Given the description of an element on the screen output the (x, y) to click on. 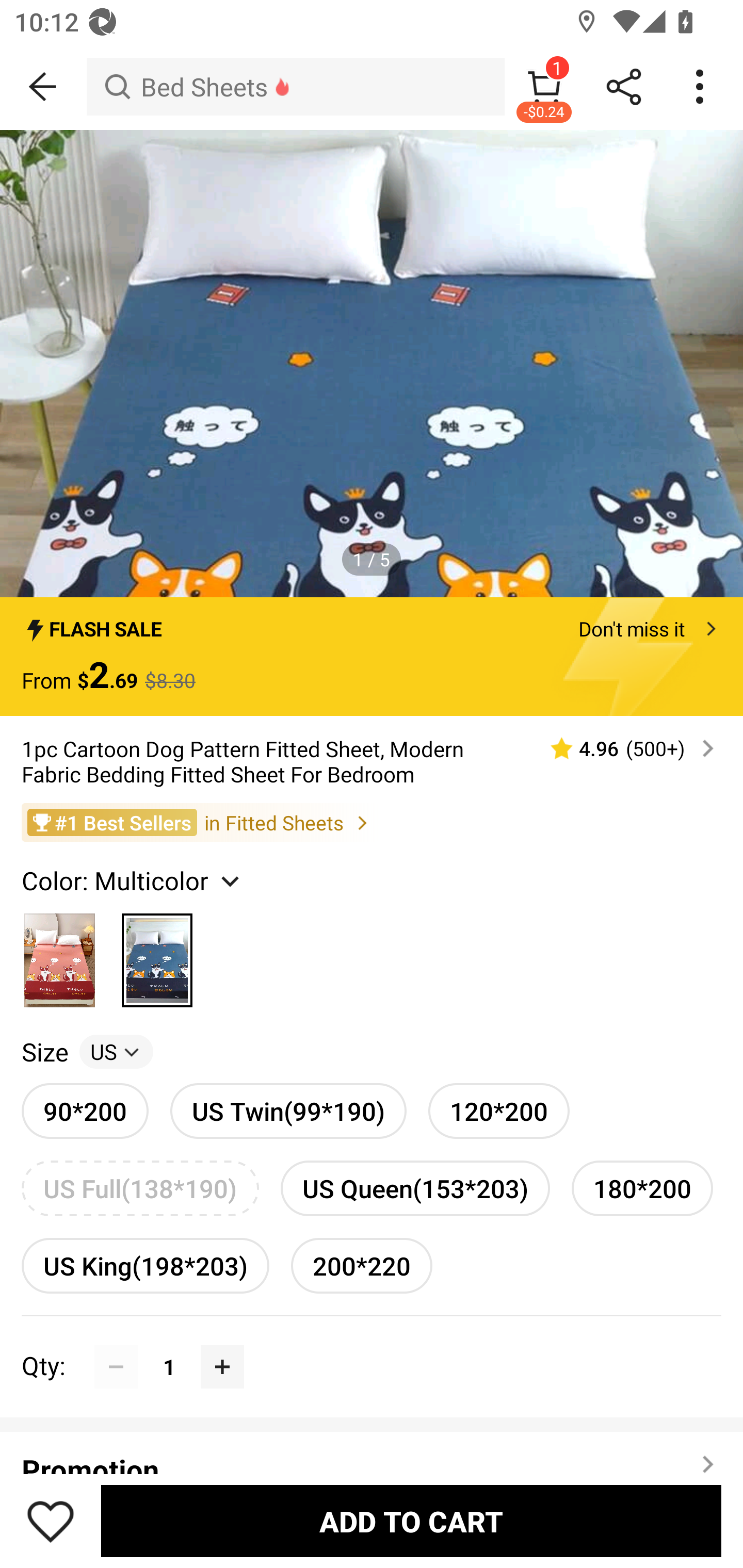
BACK (43, 86)
1 -$0.24 (543, 87)
Bed Sheets (295, 87)
PHOTOS 1 / 5 (371, 363)
1 / 5 (371, 558)
FLASH SALE Don't miss it From  $2.69 $8.30 (371, 656)
FLASH SALE Don't miss it (371, 623)
4.96 (500‎+) (623, 748)
#1 Best Sellers in Fitted Sheets (371, 822)
Color: Multicolor (132, 879)
Pink (59, 954)
Multicolor (156, 954)
Size (44, 1051)
US (116, 1051)
90*200 90*200unselected option (84, 1110)
US Twin(99*190) US Twin(99*190)unselected option (288, 1110)
120*200 120*200unselected option (498, 1110)
US Full(138*190) (140, 1188)
180*200 180*200unselected option (642, 1188)
US King(198*203) US King(198*203)unselected option (144, 1265)
200*220 200*220unselected option (361, 1265)
Qty: 1 (371, 1345)
ADD TO CART (411, 1520)
Save (50, 1520)
